Given the description of an element on the screen output the (x, y) to click on. 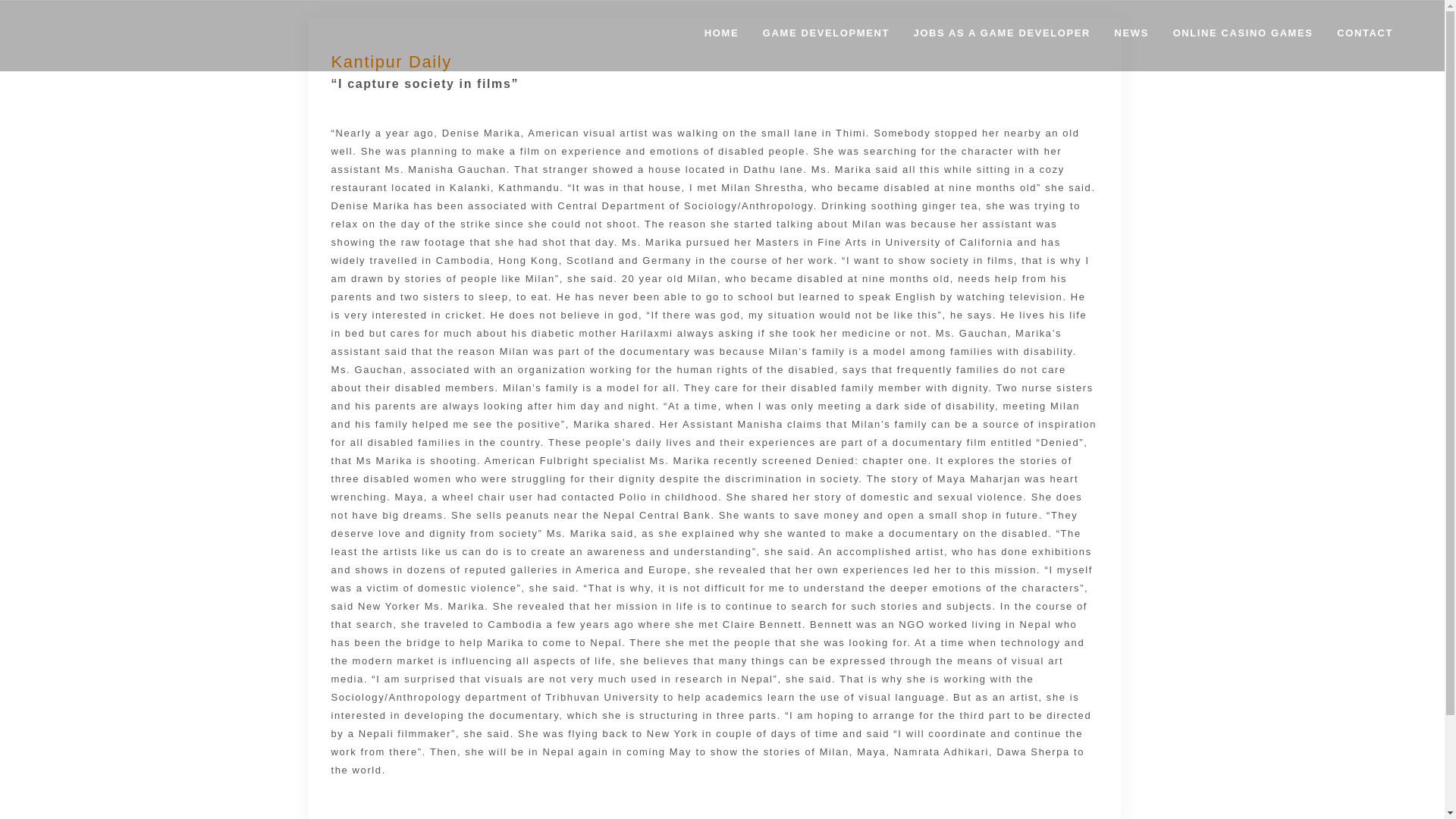
JOBS AS A GAME DEVELOPER (1001, 36)
HOME (721, 36)
CONTACT (1364, 36)
NEWS (1131, 36)
Kantipur Daily (390, 61)
GAME DEVELOPMENT (826, 36)
ONLINE CASINO GAMES (1243, 36)
